Given the description of an element on the screen output the (x, y) to click on. 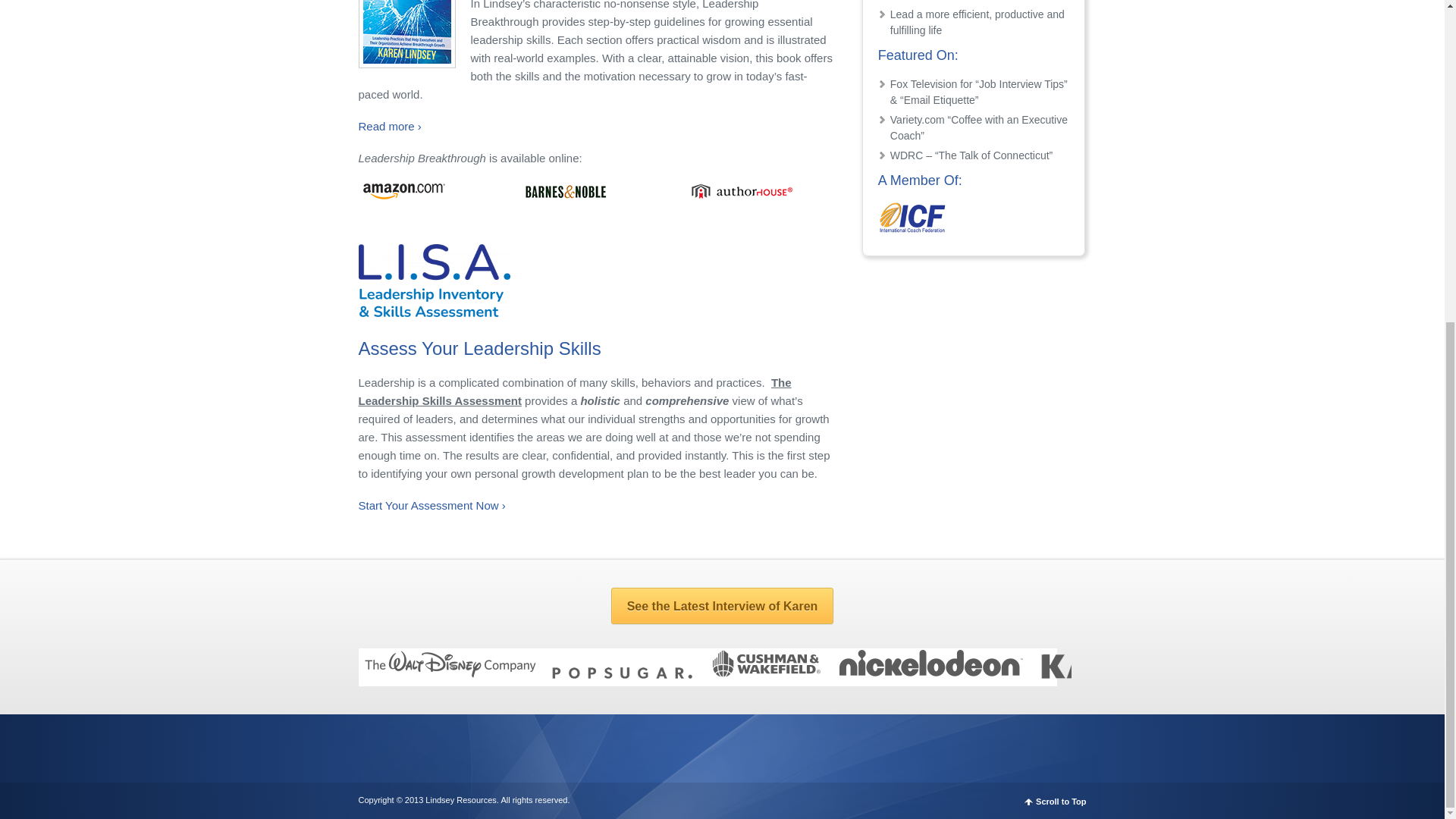
Cushman Wakefield (770, 674)
See the Latest Interview of Karen (722, 606)
Walt Disney (455, 674)
Kaman (1118, 674)
Nickelodeon (938, 674)
popsugar (629, 674)
Fandango (323, 674)
